Given the description of an element on the screen output the (x, y) to click on. 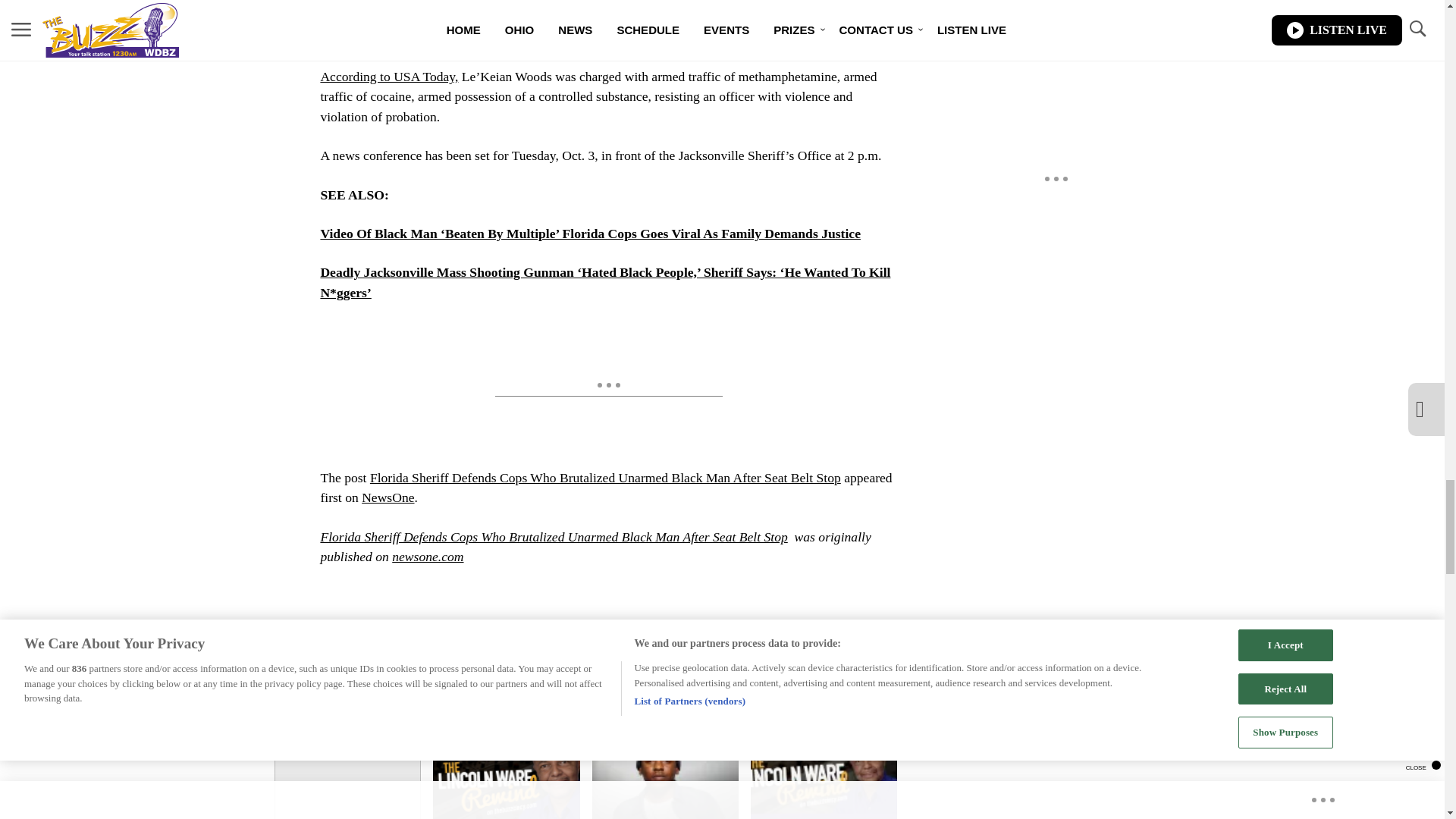
told AP (840, 2)
According to USA Today, (389, 76)
Vuukle Sharebar Widget (585, 602)
